Given the description of an element on the screen output the (x, y) to click on. 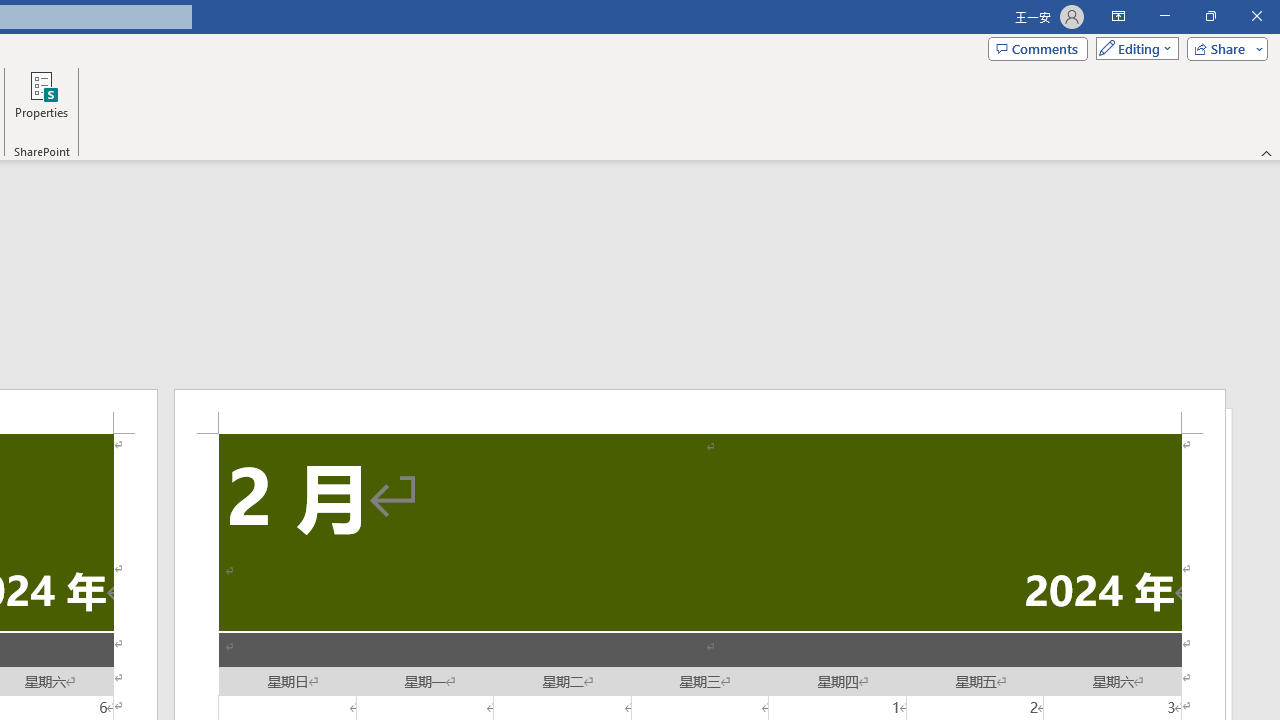
Header -Section 2- (700, 411)
Properties (41, 102)
